Given the description of an element on the screen output the (x, y) to click on. 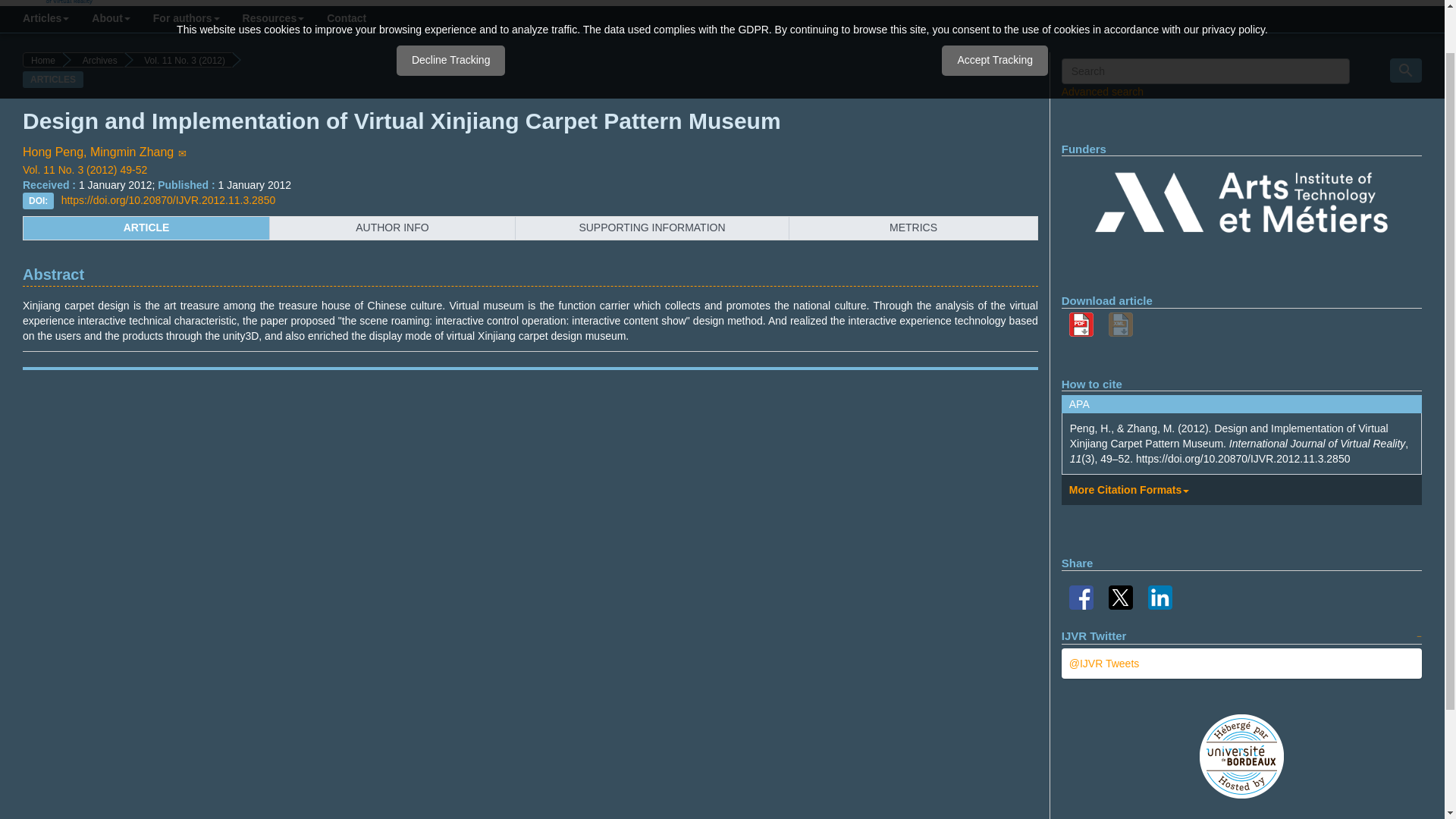
METRICS (912, 228)
Share on Facebook (1080, 596)
AUTHOR INFO (392, 228)
Home (43, 59)
For authors (186, 18)
About (110, 18)
Hong Peng,  (56, 151)
Archives (93, 59)
ARTICLE (146, 228)
Articles (45, 18)
